Given the description of an element on the screen output the (x, y) to click on. 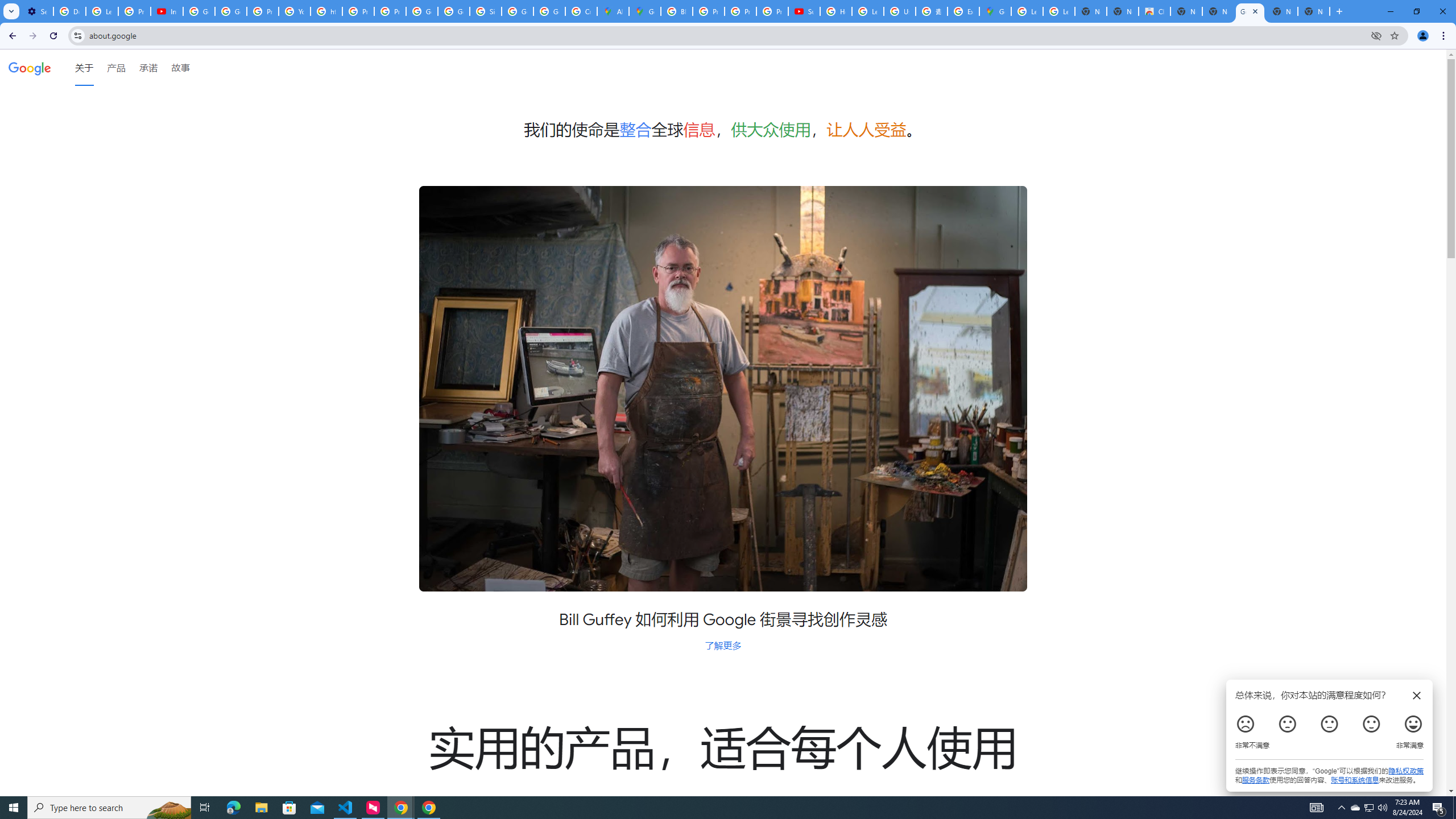
Privacy Help Center - Policies Help (708, 11)
Privacy Help Center - Policies Help (358, 11)
Create your Google Account (581, 11)
Explore new street-level details - Google Maps Help (963, 11)
